Given the description of an element on the screen output the (x, y) to click on. 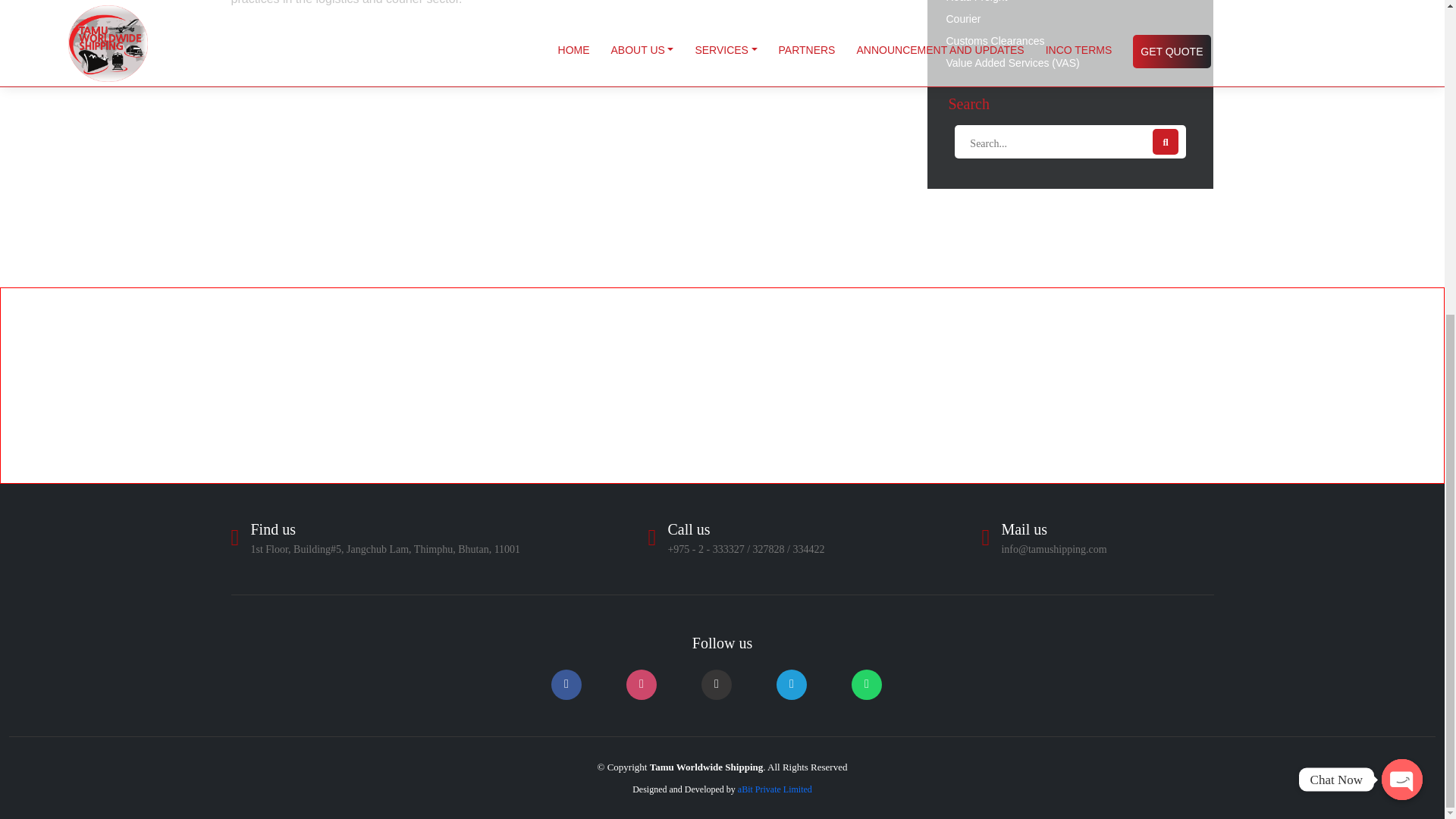
Courier (1069, 18)
Customs Clearances (1069, 40)
Road Freight (1069, 3)
